Given the description of an element on the screen output the (x, y) to click on. 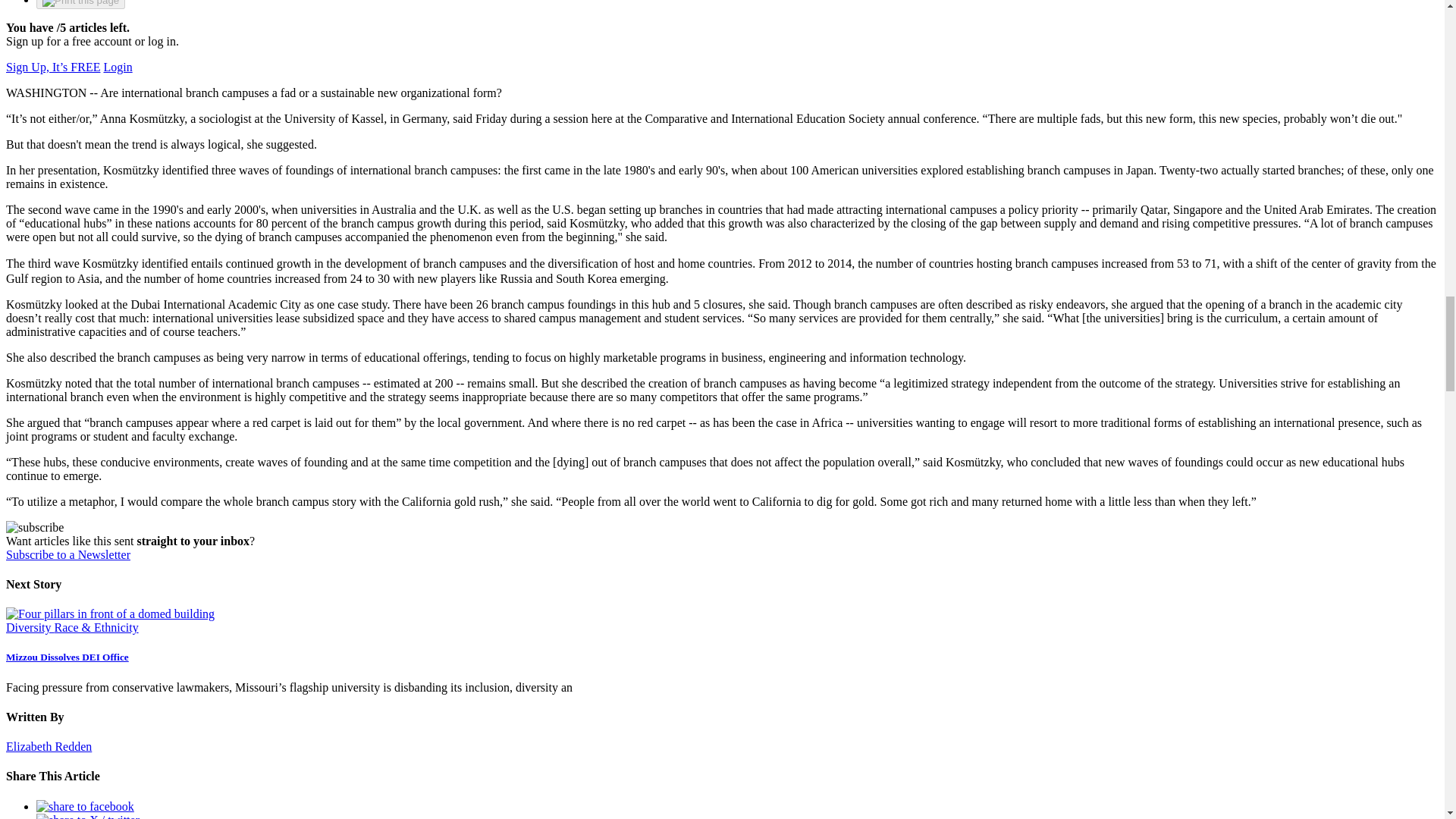
share to facebook (84, 806)
